Given the description of an element on the screen output the (x, y) to click on. 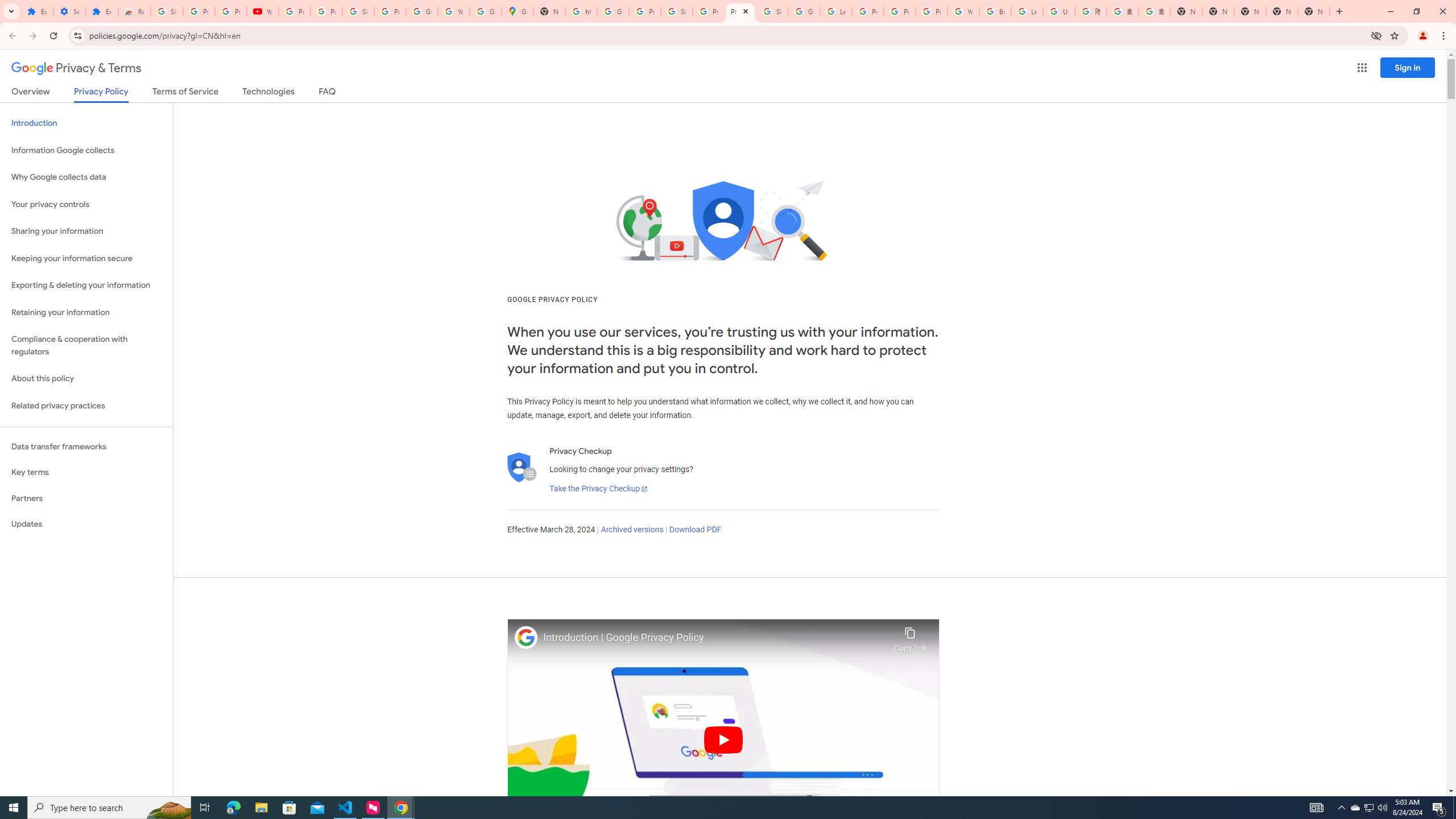
Privacy Help Center - Policies Help (868, 11)
New Tab (1185, 11)
Sign in - Google Accounts (772, 11)
